Given the description of an element on the screen output the (x, y) to click on. 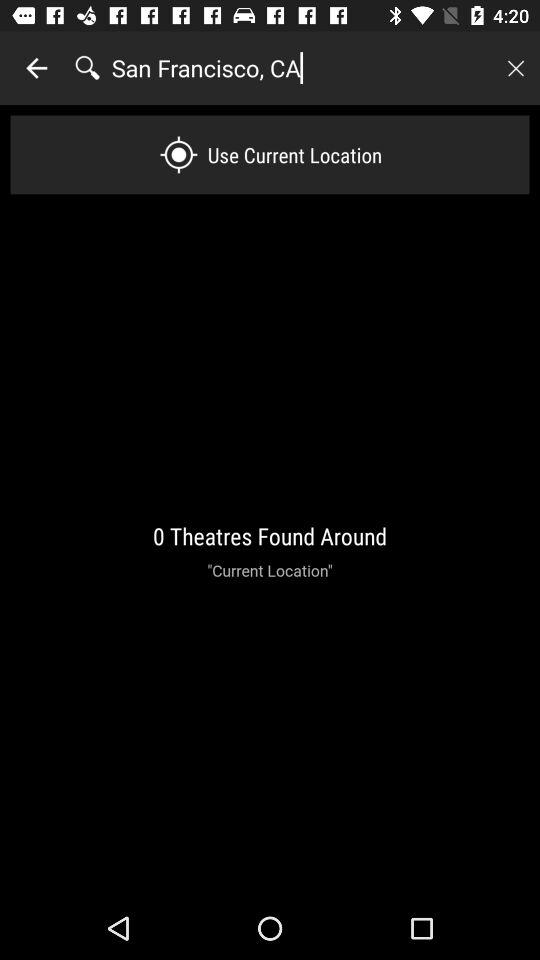
press the item next to san francisco, ca item (36, 68)
